Given the description of an element on the screen output the (x, y) to click on. 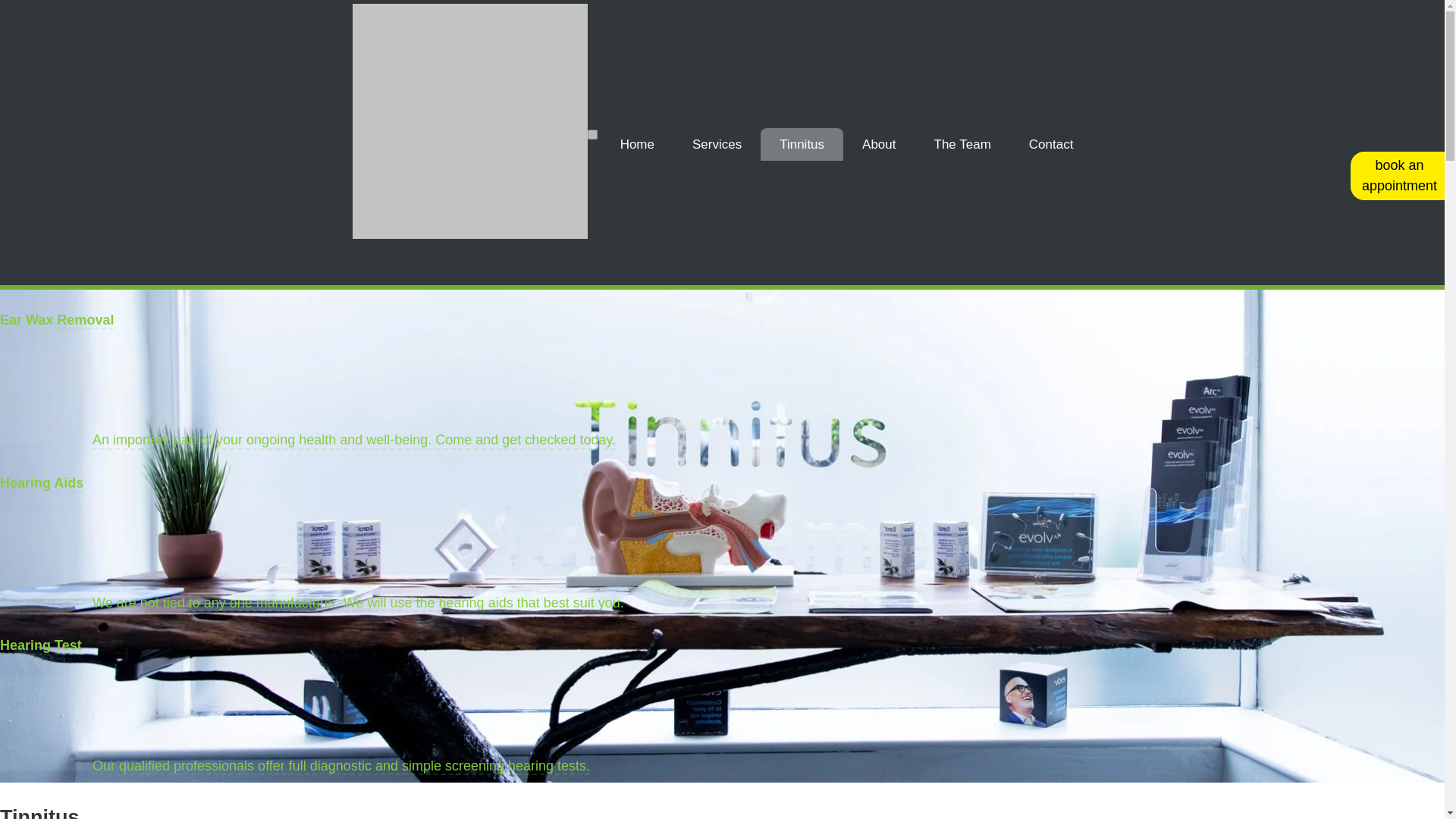
Contact (1051, 143)
Tinnitus (801, 143)
Services (716, 143)
Tinnitus (801, 143)
Home (636, 143)
The Team (962, 143)
About (878, 143)
Services (716, 143)
The Team (962, 143)
on (592, 134)
Buxton Hearing Centre - home (470, 233)
About (878, 143)
Contact (1051, 143)
Home (636, 143)
